Given the description of an element on the screen output the (x, y) to click on. 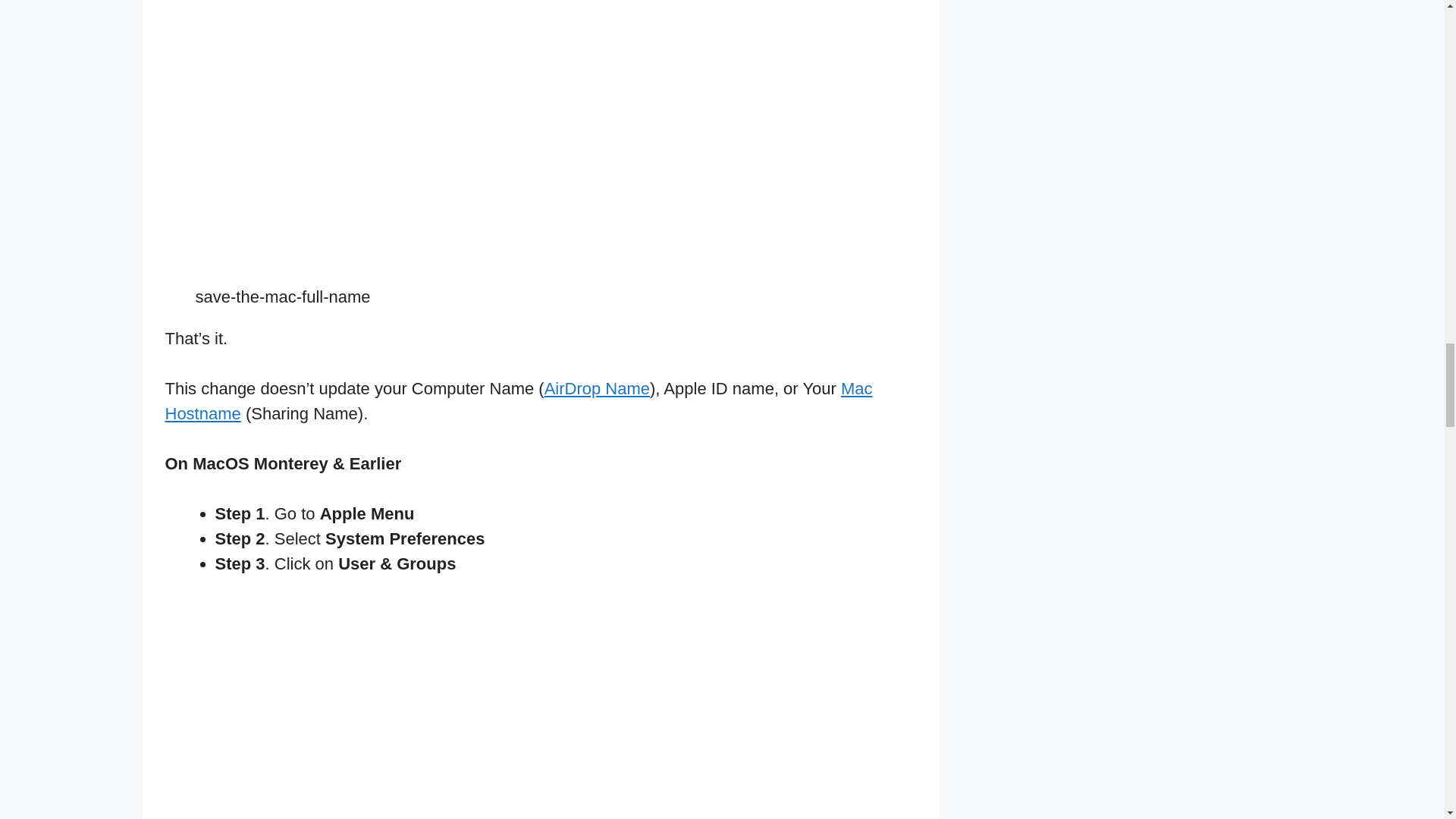
AirDrop Name (596, 388)
Mac Hostname (518, 401)
